Given the description of an element on the screen output the (x, y) to click on. 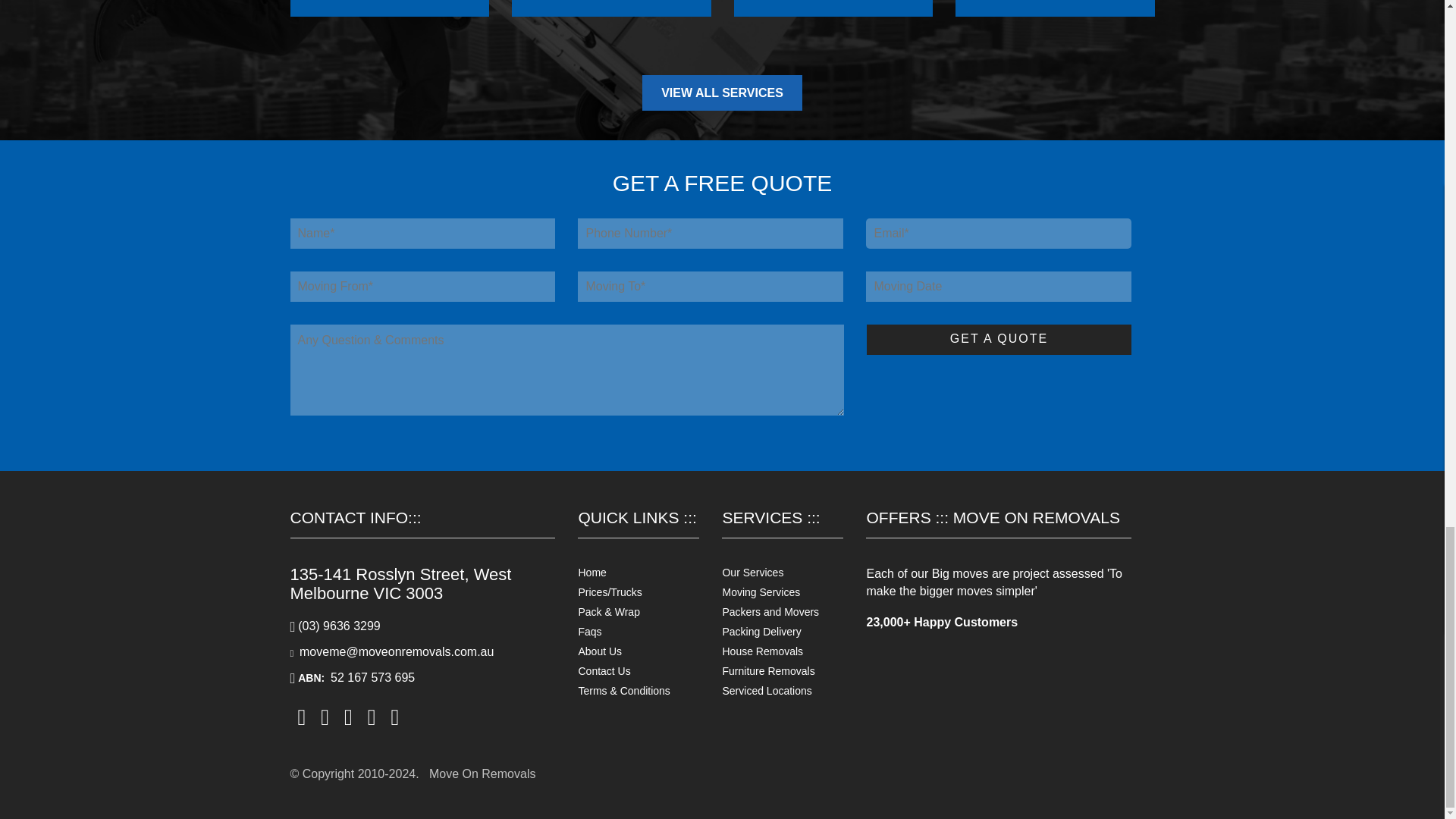
Twitter (347, 715)
GET A QUOTE (998, 339)
VIEW ALL SERVICES (722, 92)
Facebook (301, 715)
52 167 573 695 (372, 676)
LinkedIn (371, 715)
Instagram (324, 715)
GET A QUOTE (998, 339)
Google My Business (394, 715)
